Given the description of an element on the screen output the (x, y) to click on. 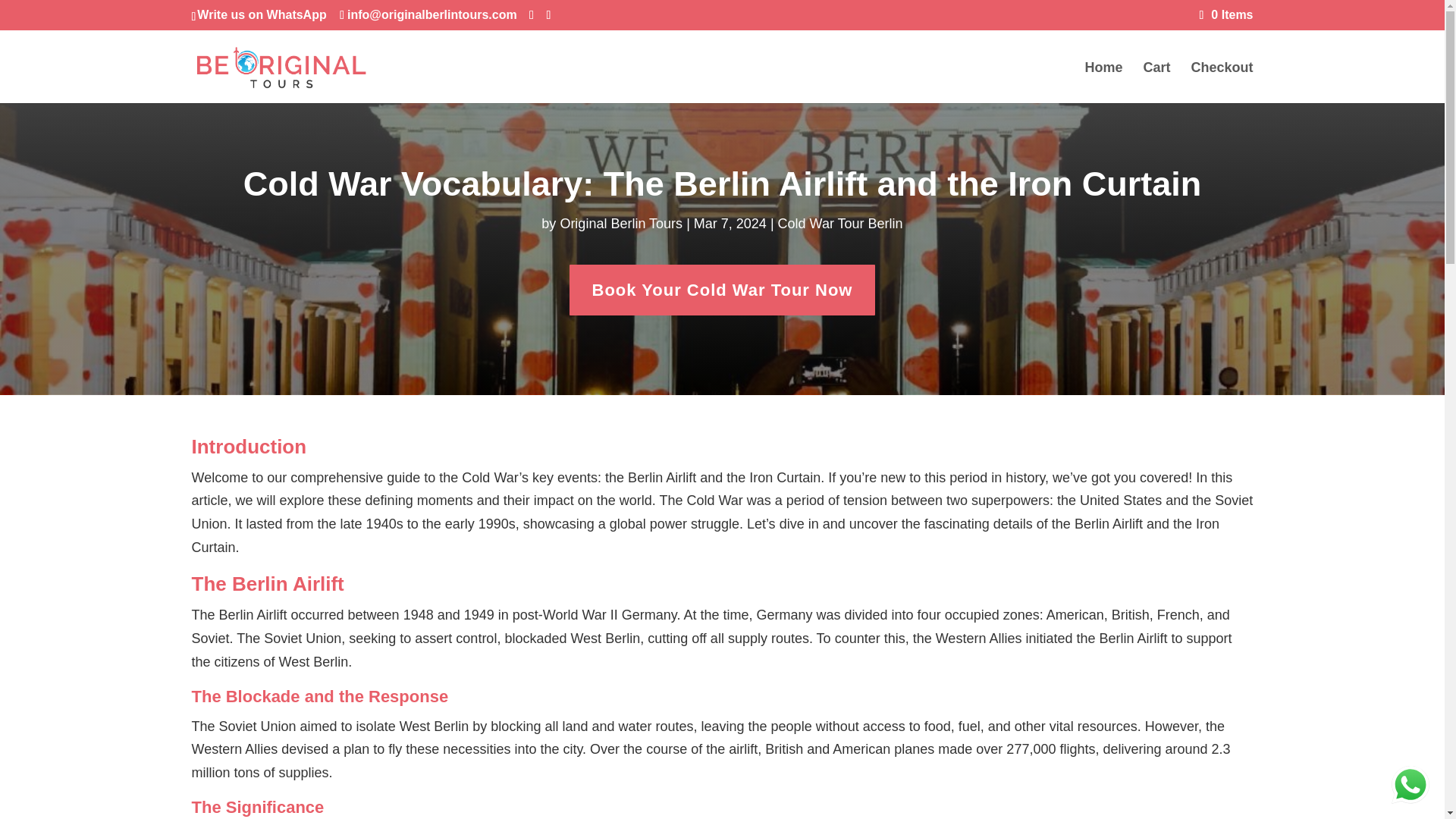
0 Items (1226, 14)
Book Your Cold War Tour Now (722, 289)
Posts by Original Berlin Tours (620, 223)
Original Berlin Tours (620, 223)
Home (1103, 82)
WhatsApp us (1410, 784)
Checkout (1221, 82)
Write us on WhatsApp (261, 14)
Cold War Tour Berlin (839, 223)
